Given the description of an element on the screen output the (x, y) to click on. 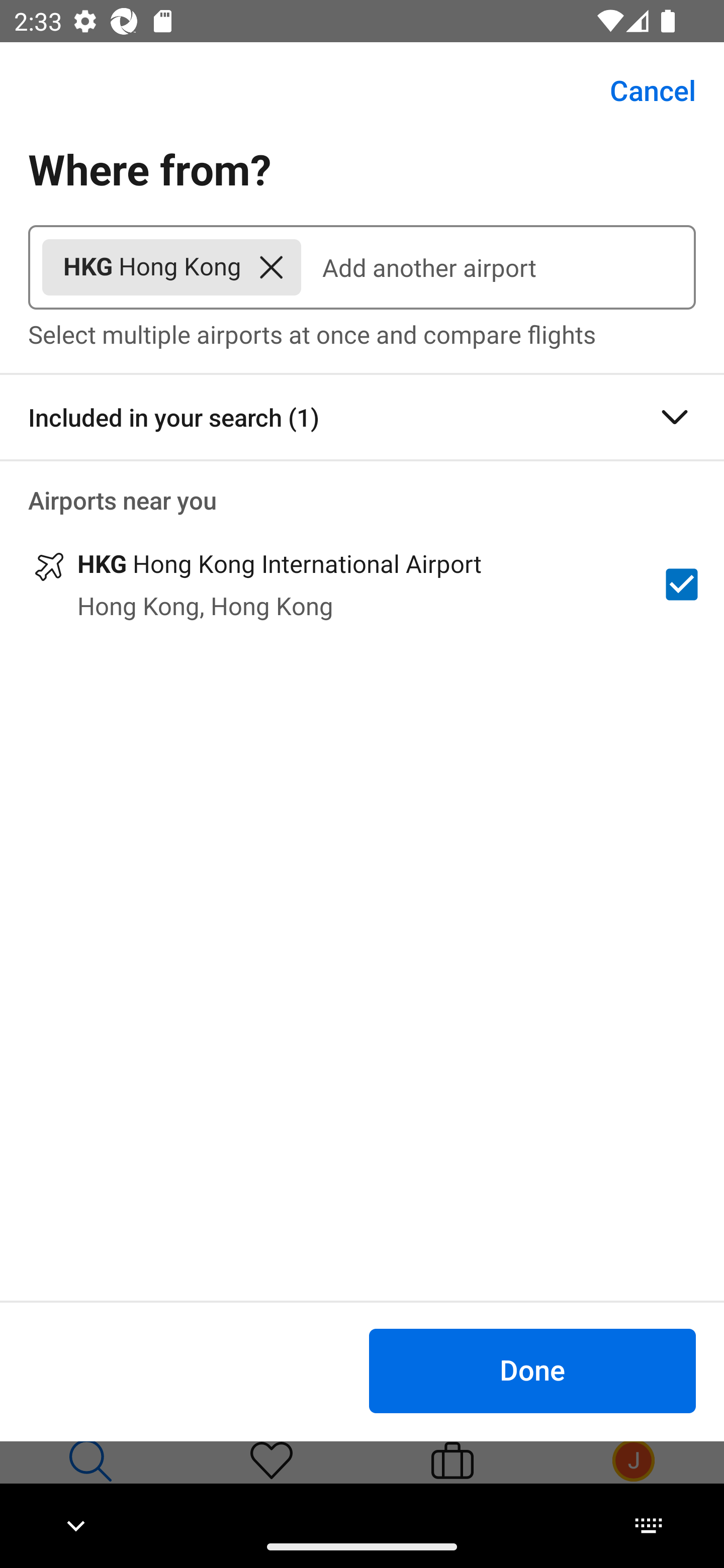
Cancel (641, 90)
Add another airport (498, 266)
HKG Hong Kong Remove HKG Hong Kong (171, 266)
Included in your search (1) (362, 416)
Done (532, 1370)
